Given the description of an element on the screen output the (x, y) to click on. 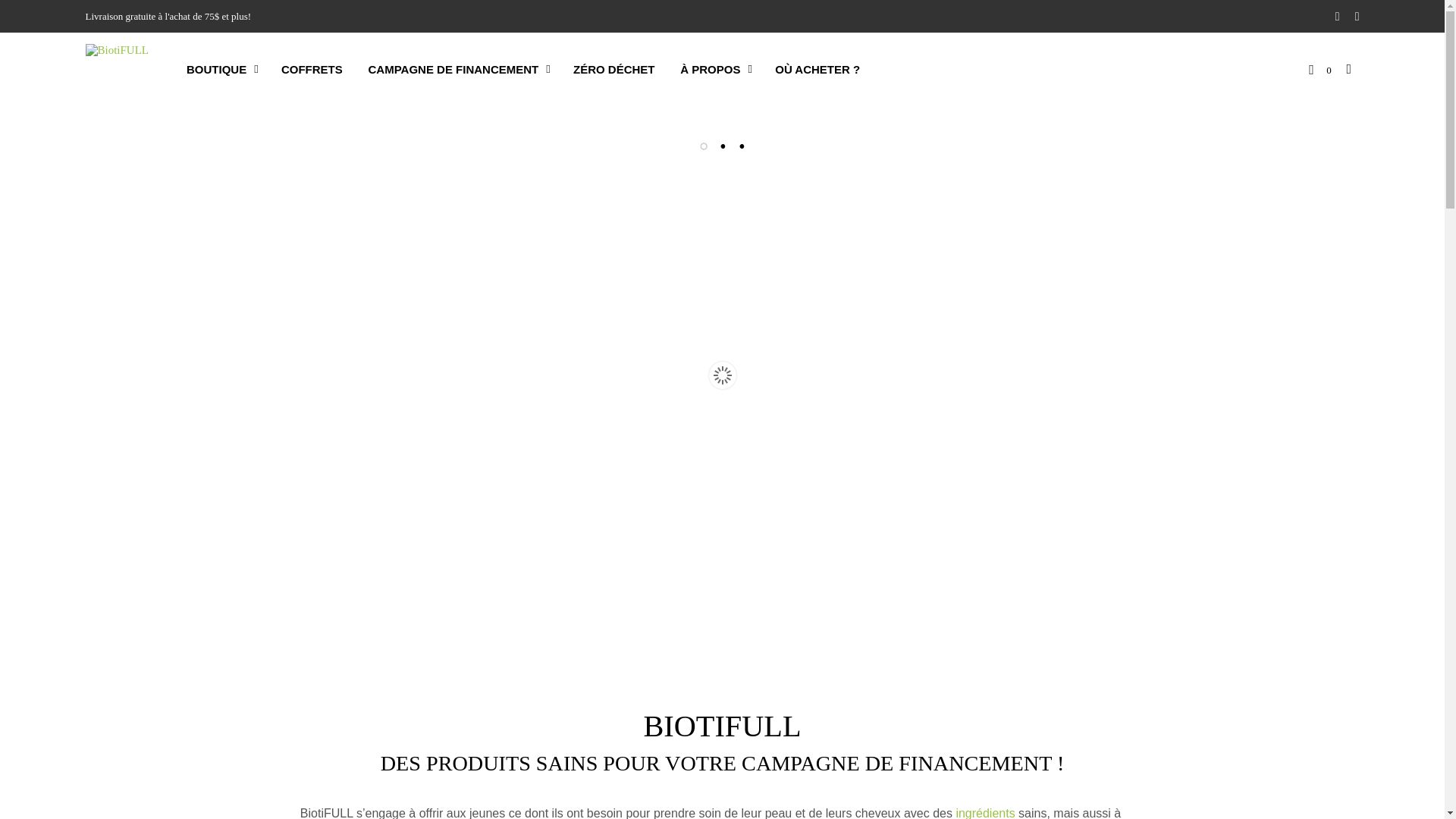
Soins corporels Element type: hover (116, 68)
BOUTIQUE Element type: text (216, 69)
COFFRETS Element type: text (311, 69)
CAMPAGNE DE FINANCEMENT Element type: text (453, 69)
Recherche Element type: text (1082, 690)
0 Element type: text (1319, 68)
